Given the description of an element on the screen output the (x, y) to click on. 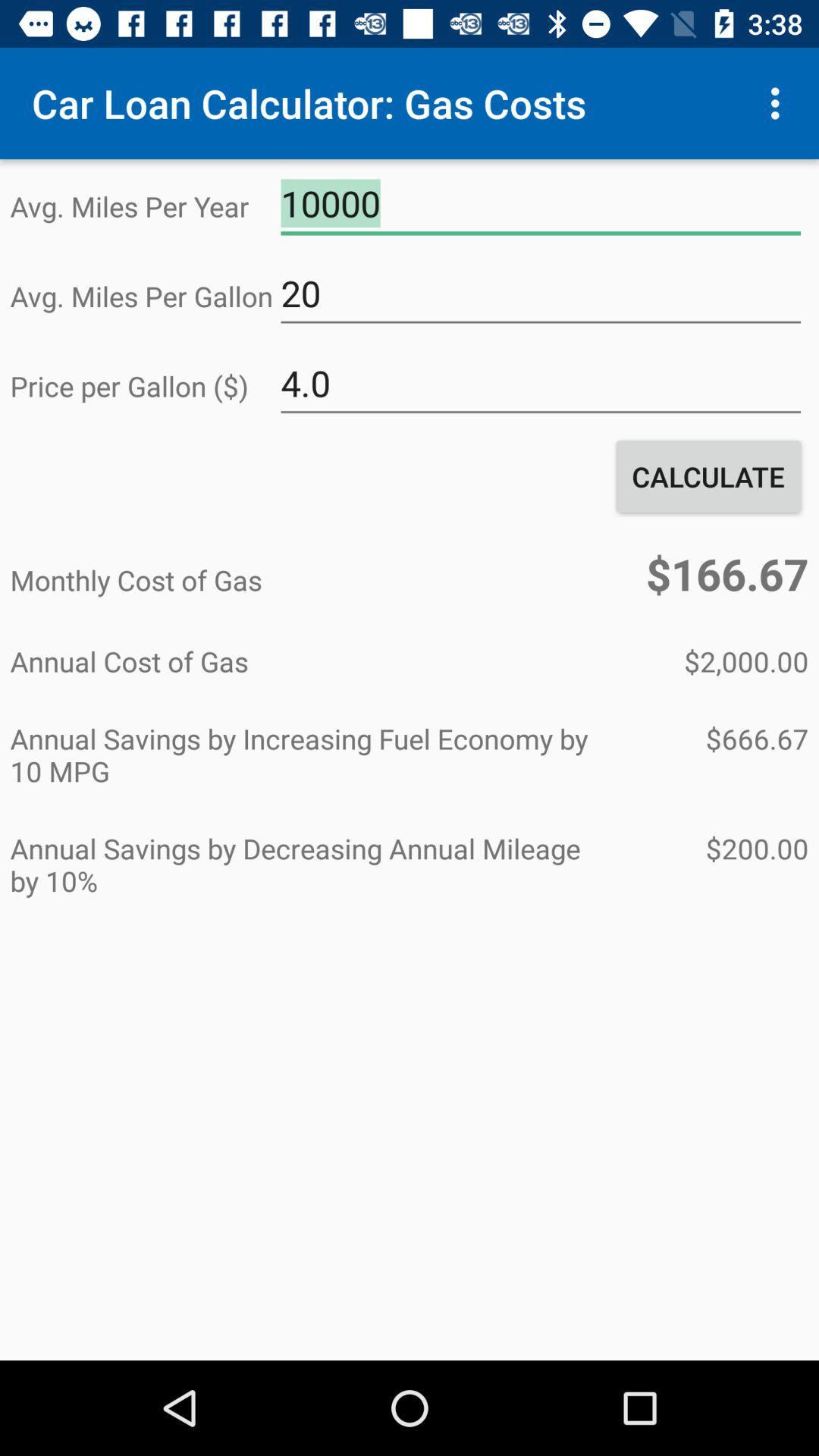
open the 20 (540, 293)
